Given the description of an element on the screen output the (x, y) to click on. 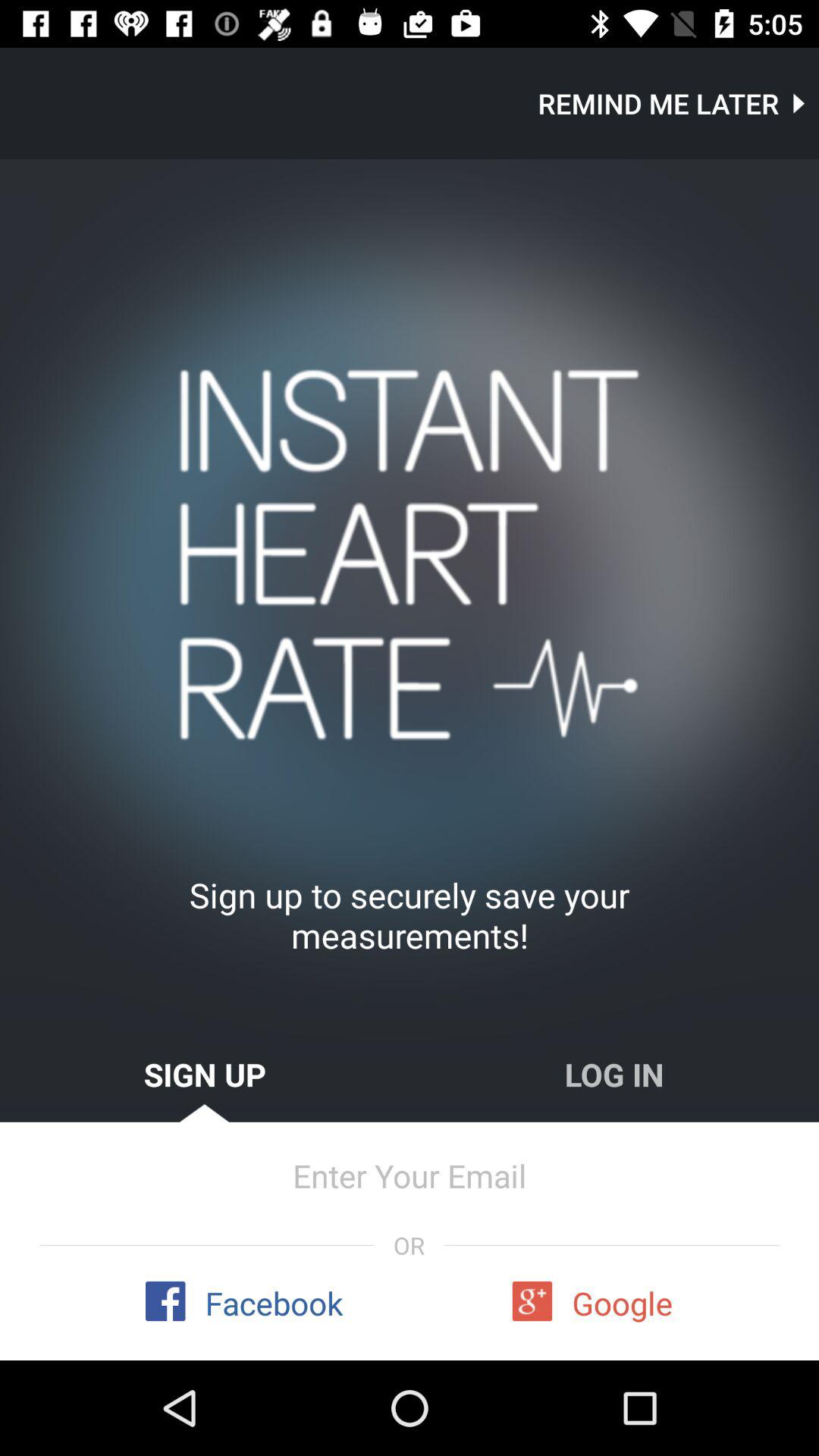
launch the enter your email (409, 1175)
